Given the description of an element on the screen output the (x, y) to click on. 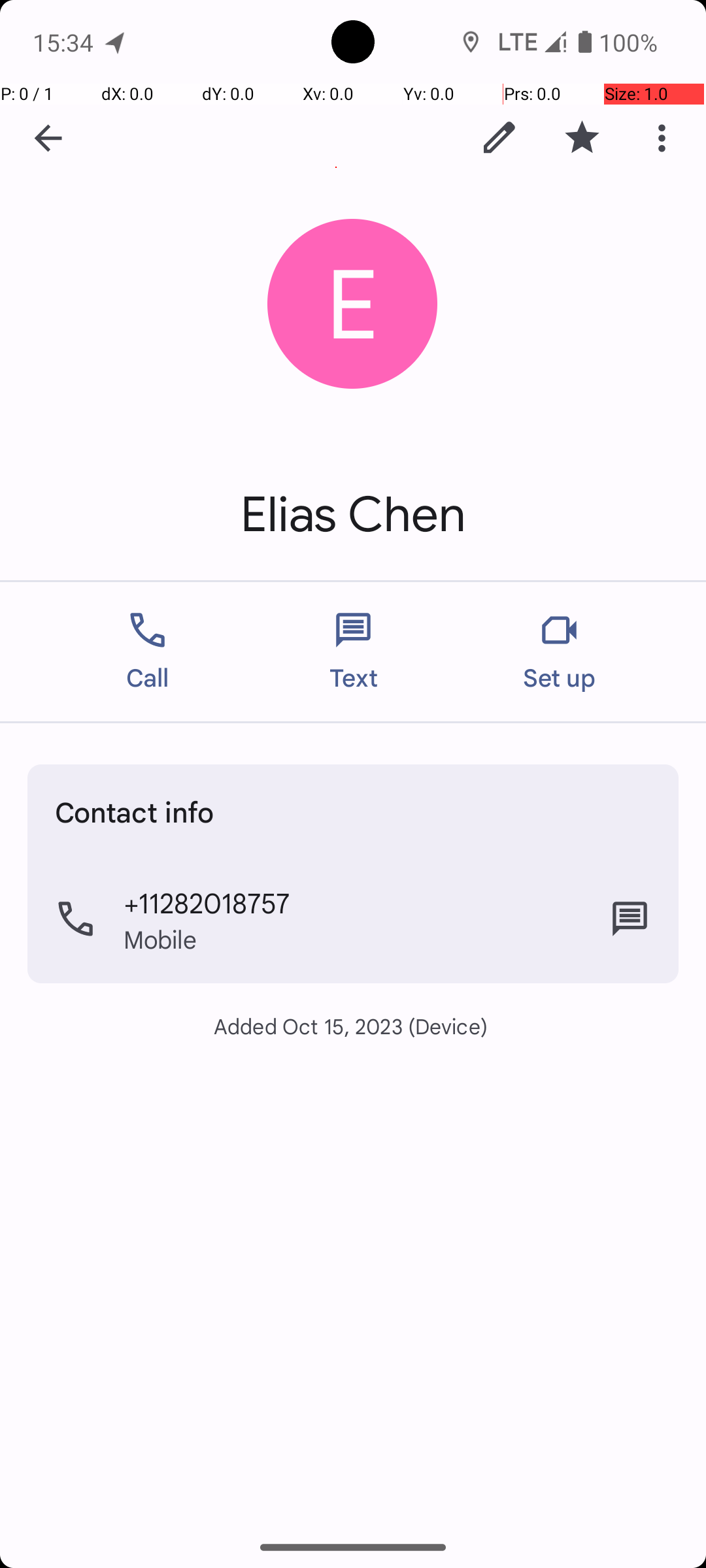
Set up Element type: android.widget.TextView (559, 651)
Elias Chen Element type: android.widget.TextView (352, 514)
Call Mobile +11282018757 Element type: android.widget.RelativeLayout (352, 919)
Added Oct 15, 2023 (Device)  Element type: android.widget.TextView (352, 1025)
+11282018757 Element type: android.widget.TextView (206, 901)
Text Mobile +11282018757 Element type: android.widget.Button (629, 919)
